Given the description of an element on the screen output the (x, y) to click on. 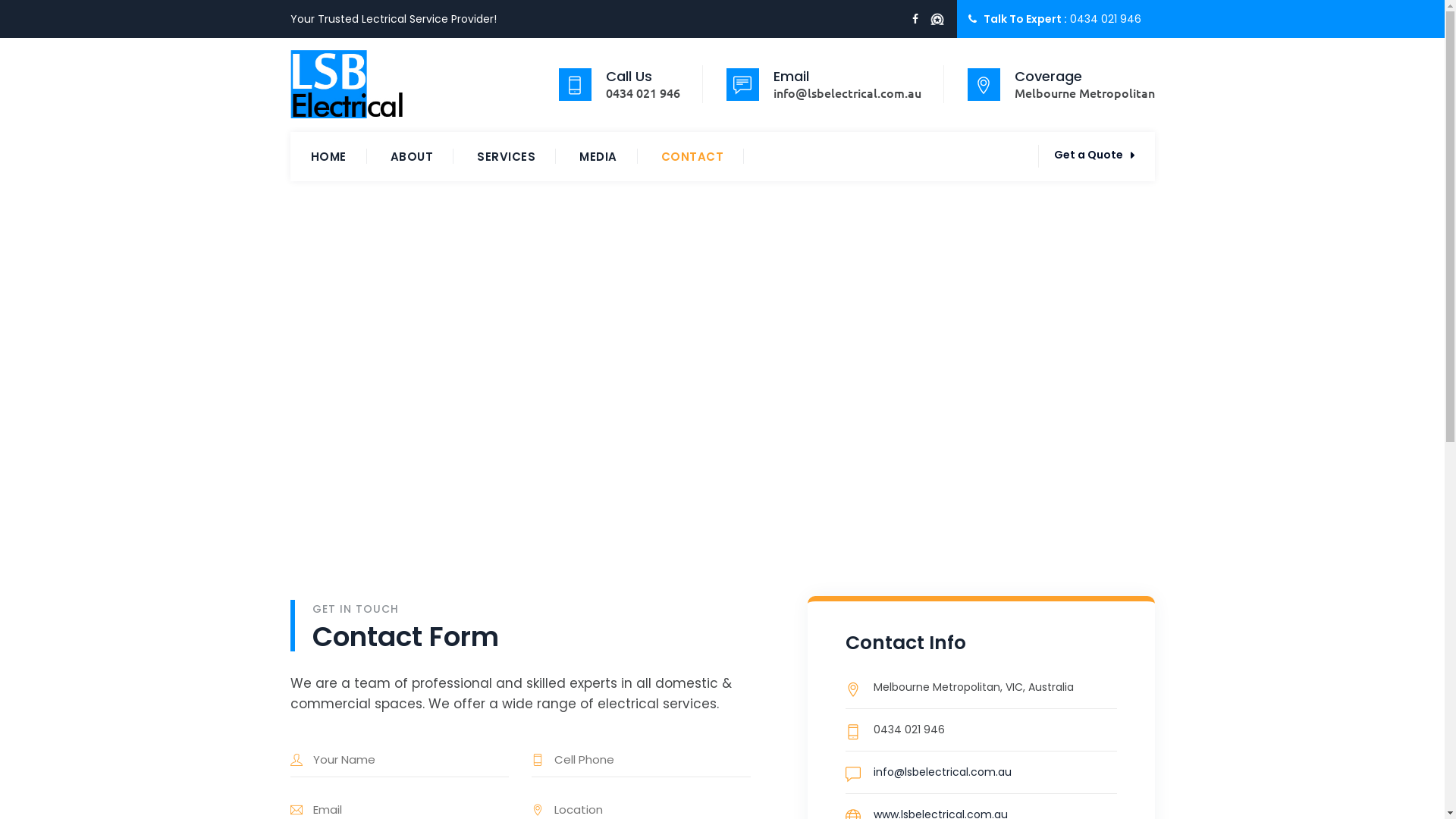
ABOUT Element type: text (411, 156)
SERVICES Element type: text (505, 156)
info@lsbelectrical.com.au Element type: text (942, 771)
LSB Electrical Element type: hover (345, 83)
LSB Electrical on Findmag Element type: hover (936, 19)
LSB Electrical on Findmag Element type: hover (933, 18)
Get a Quote Element type: text (1094, 154)
HOME Element type: text (328, 156)
CONTACT Element type: text (692, 156)
MEDIA Element type: text (598, 156)
